Given the description of an element on the screen output the (x, y) to click on. 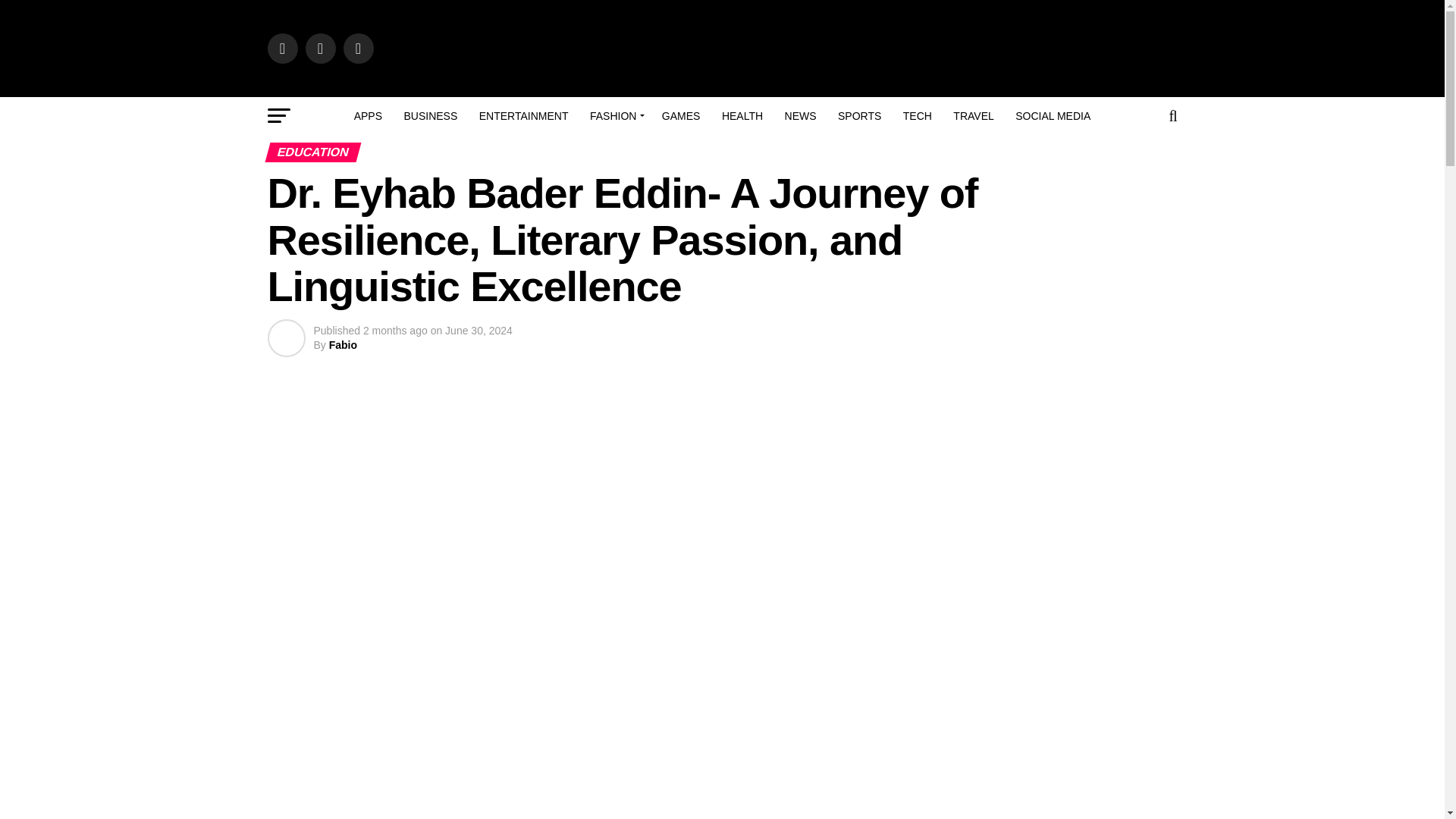
FASHION (614, 116)
SPORTS (858, 116)
TECH (916, 116)
TRAVEL (973, 116)
Posts by Fabio (342, 345)
HEALTH (742, 116)
NEWS (800, 116)
SOCIAL MEDIA (1052, 116)
Fabio (342, 345)
APPS (368, 116)
